Given the description of an element on the screen output the (x, y) to click on. 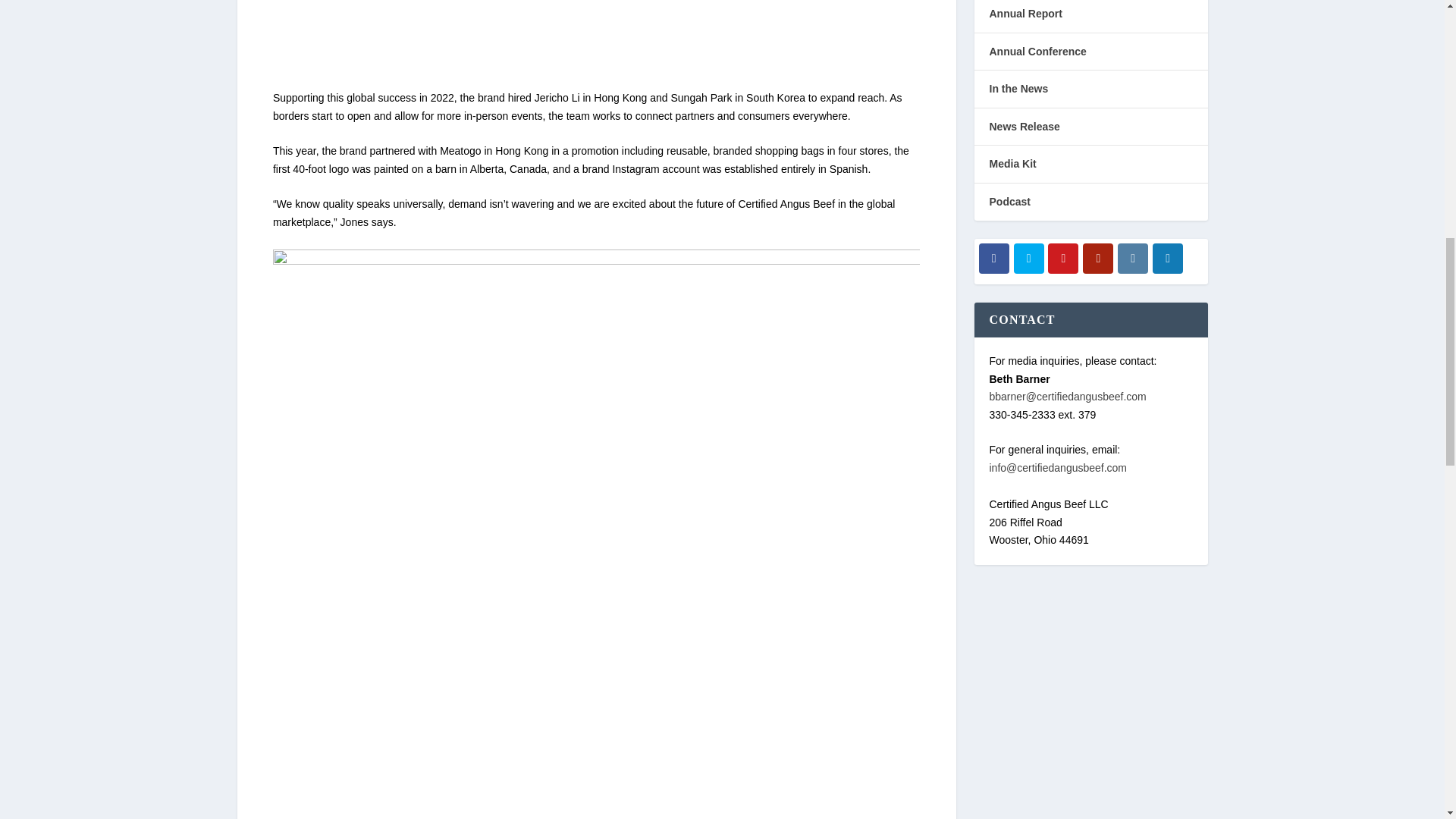
0024 Beef Pho (596, 36)
